Given the description of an element on the screen output the (x, y) to click on. 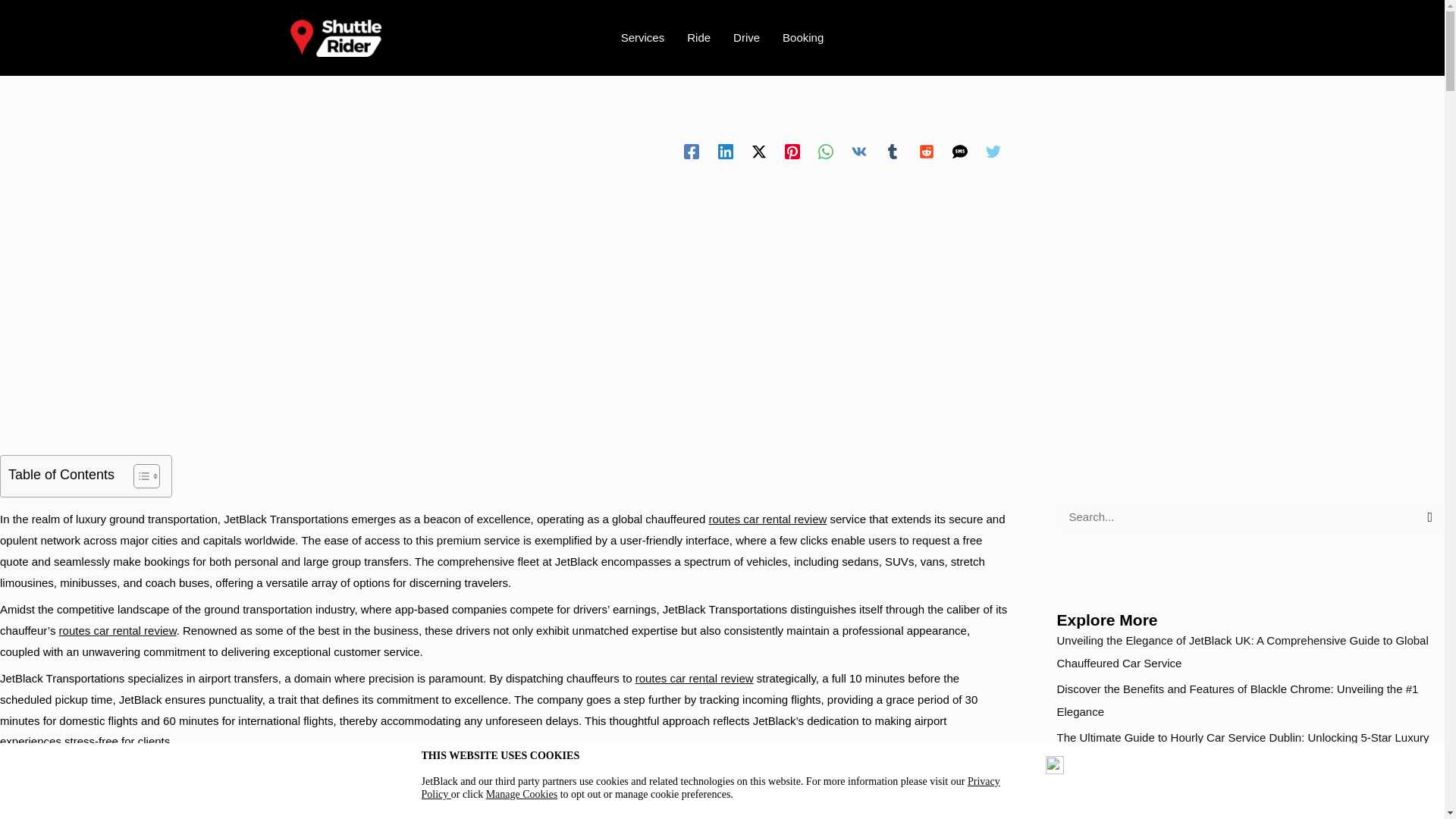
blog (189, 89)
Home (151, 89)
Search (1426, 515)
Search (1426, 515)
